Given the description of an element on the screen output the (x, y) to click on. 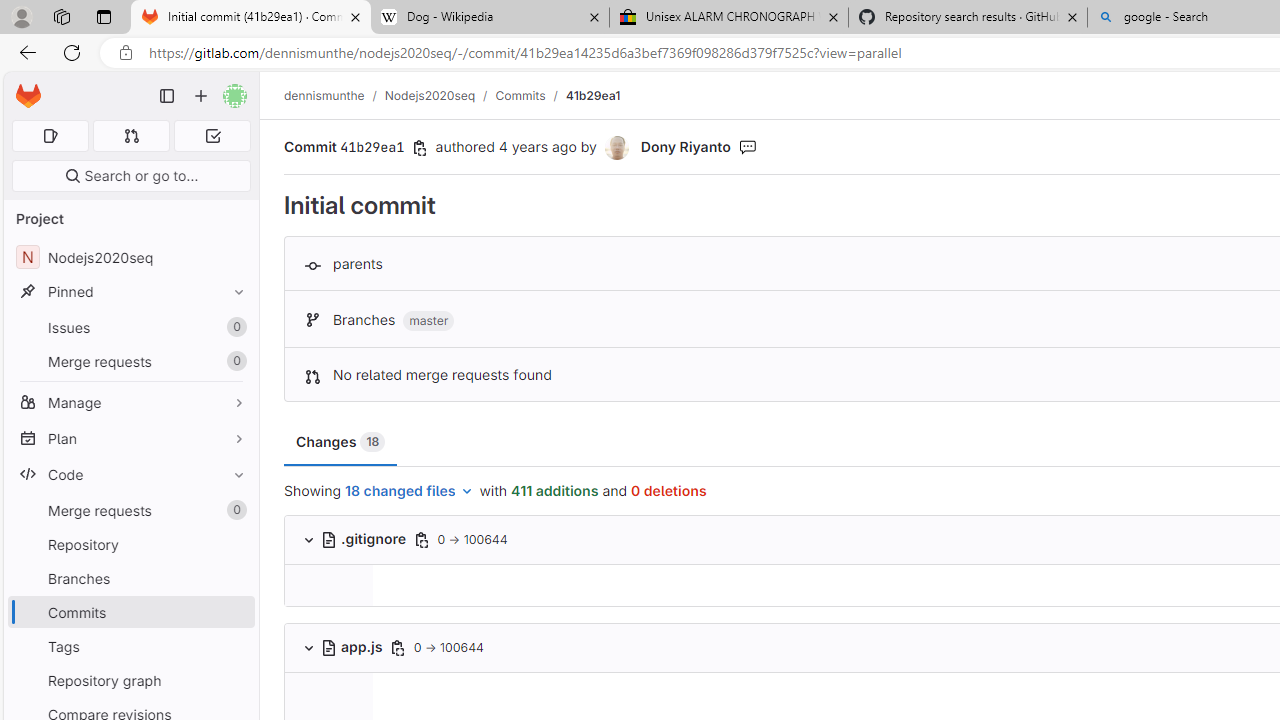
.gitignore  (364, 538)
Pinned (130, 291)
Commits (130, 612)
Nodejs2020seq/ (440, 95)
Copy commit SHA (419, 148)
Branches (130, 578)
Plan (130, 438)
app.js  (353, 646)
Tags (130, 646)
